Given the description of an element on the screen output the (x, y) to click on. 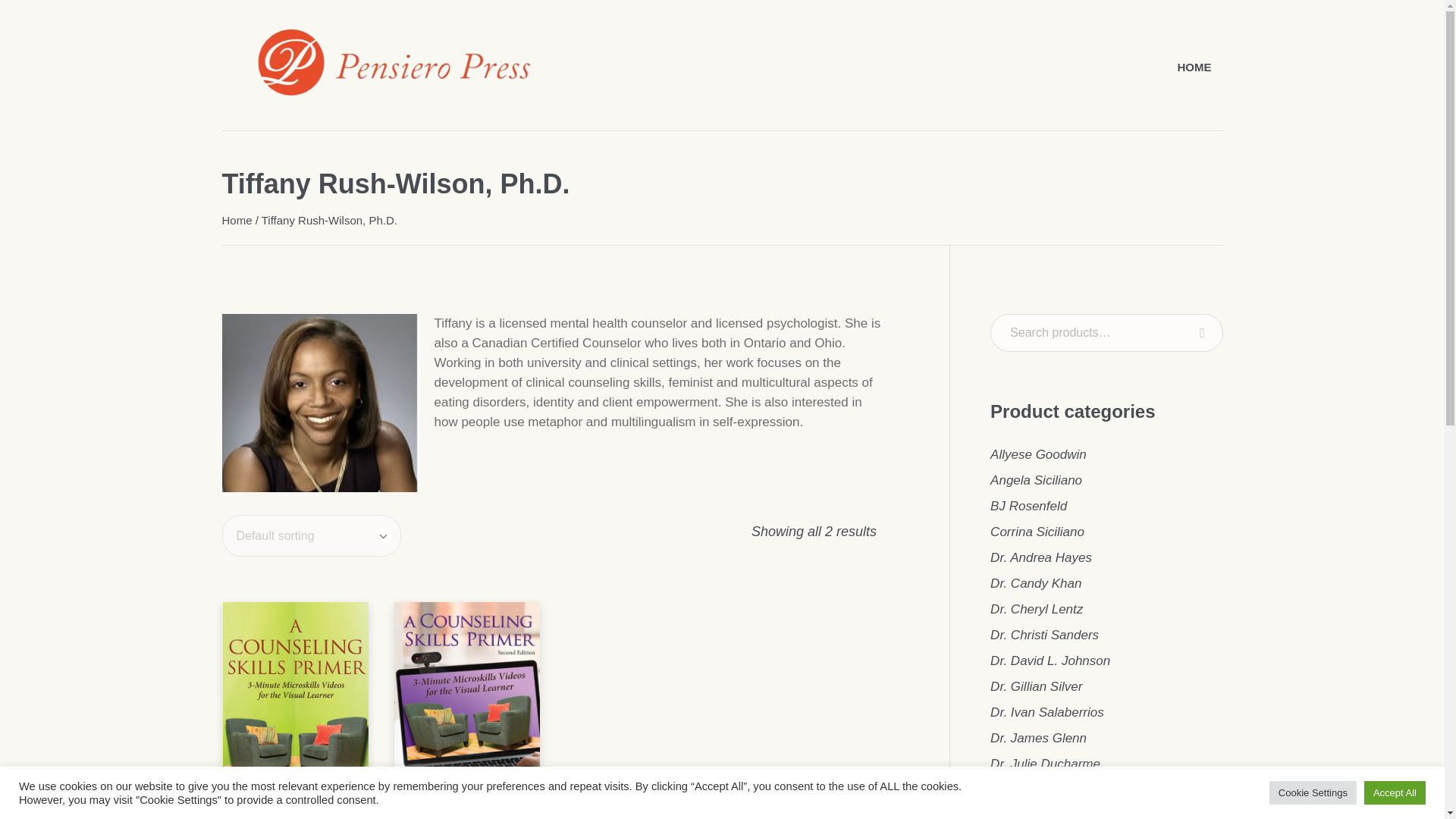
Angela Siciliano (1035, 480)
Corrina Siciliano (1037, 531)
Dr. Gillian Silver (1035, 686)
Dr. Ivan Salaberrios (1046, 712)
Allyese Goodwin (1038, 454)
Dr. James Glenn (1038, 738)
Home (236, 219)
BJ Rosenfeld (1028, 505)
HOME (1193, 67)
Dr. Andrea Hayes (1041, 557)
Dr. Candy Khan (1035, 583)
Dr. Julie Ducharme (1045, 763)
Dr. Cheryl Lentz (1036, 608)
Dr. David L. Johnson (1049, 660)
Dr. Christi Sanders (1044, 635)
